Given the description of an element on the screen output the (x, y) to click on. 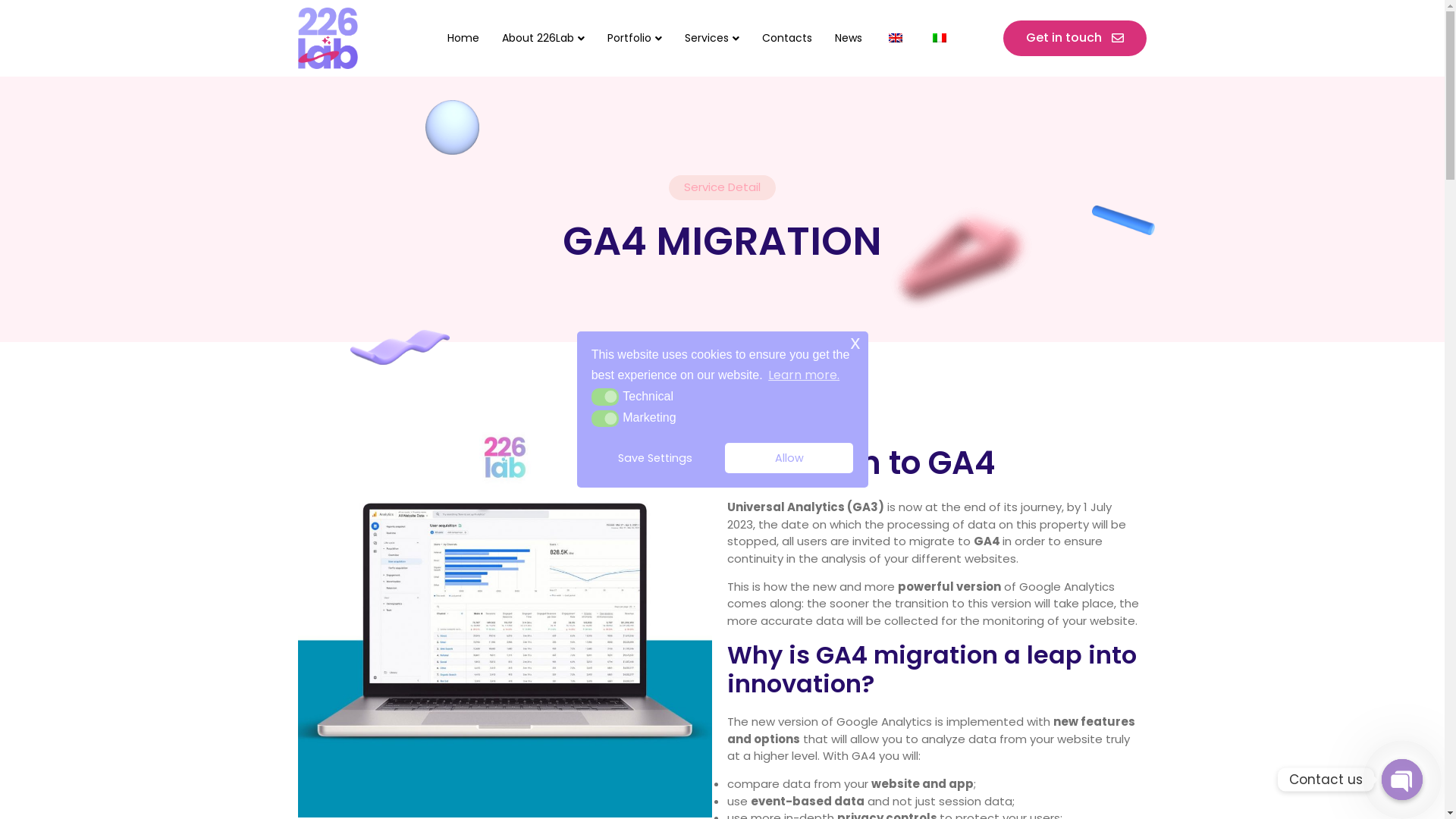
News Element type: text (848, 38)
English Element type: hover (895, 37)
Services Element type: text (711, 38)
Get in touch Element type: text (1074, 38)
Learn more. Element type: text (803, 375)
Portfolio Element type: text (634, 38)
Allow Element type: text (788, 457)
Save Settings Element type: text (655, 457)
Italian Element type: hover (939, 37)
Home Element type: text (463, 38)
About 226Lab Element type: text (543, 38)
Contacts Element type: text (786, 38)
